Given the description of an element on the screen output the (x, y) to click on. 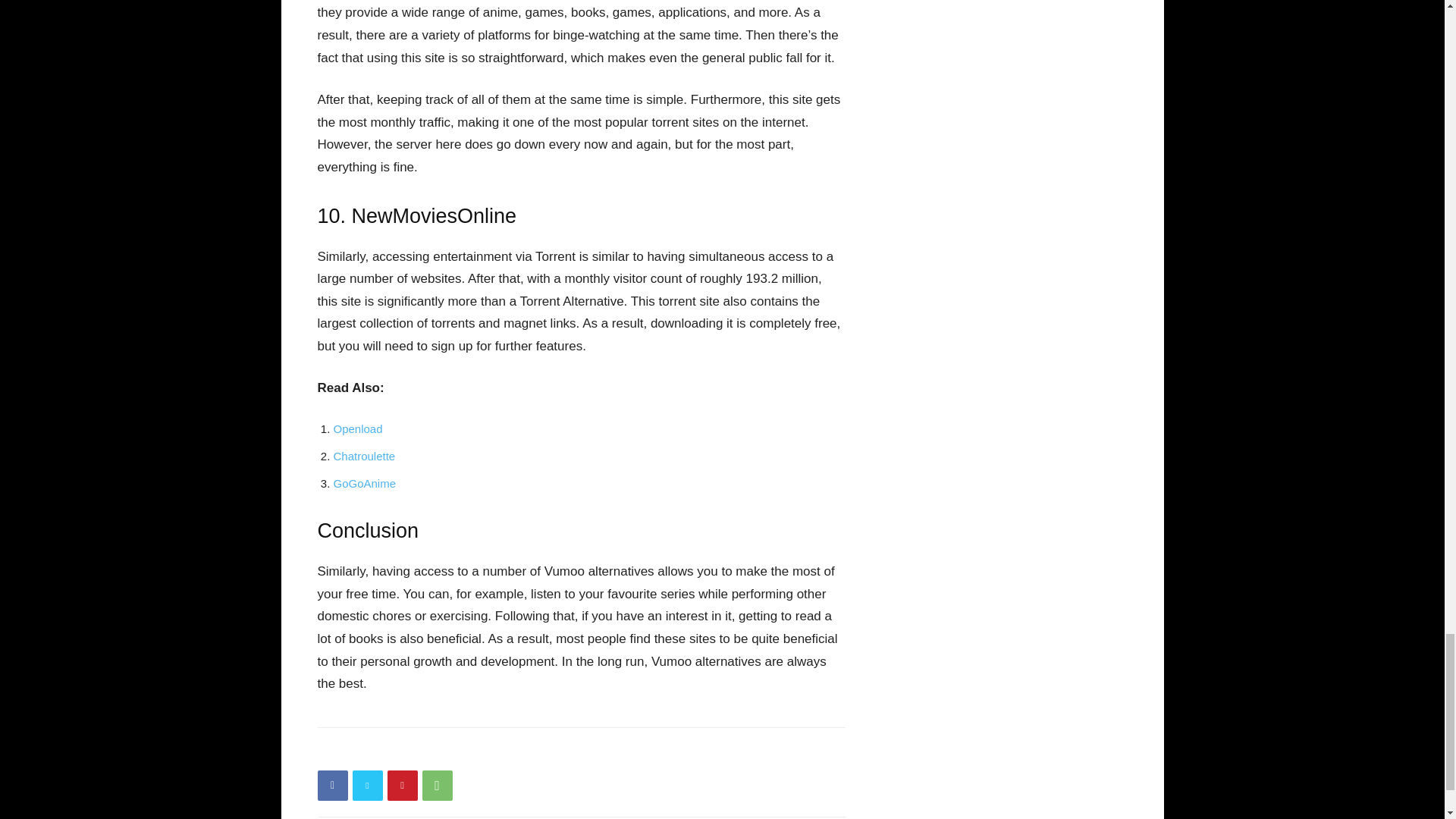
Facebook (332, 785)
WhatsApp (436, 785)
Pinterest (401, 785)
Twitter (366, 785)
Openload (357, 428)
Chatroulette (364, 455)
